Given the description of an element on the screen output the (x, y) to click on. 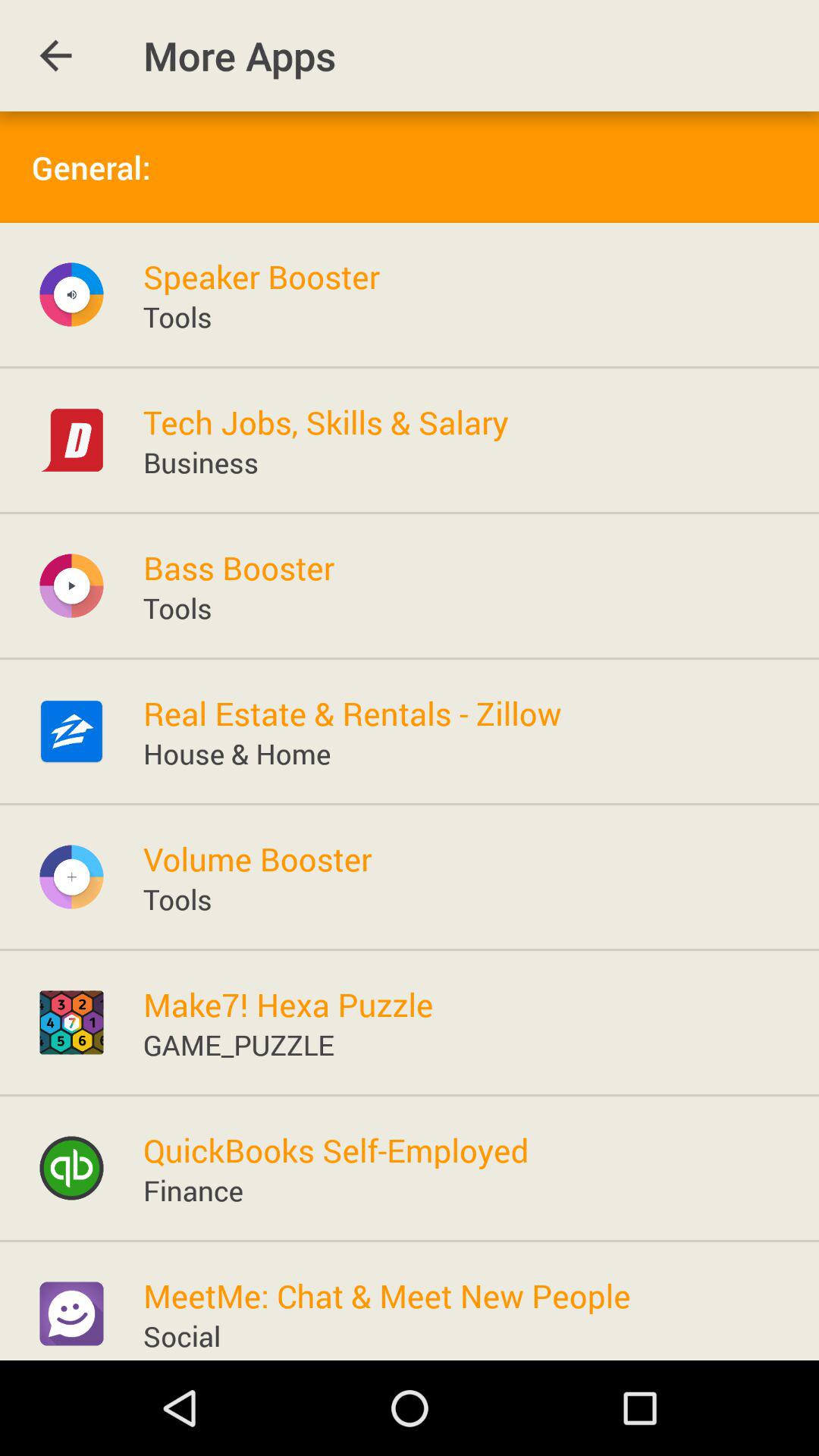
open item to the left of the more apps app (55, 55)
